Given the description of an element on the screen output the (x, y) to click on. 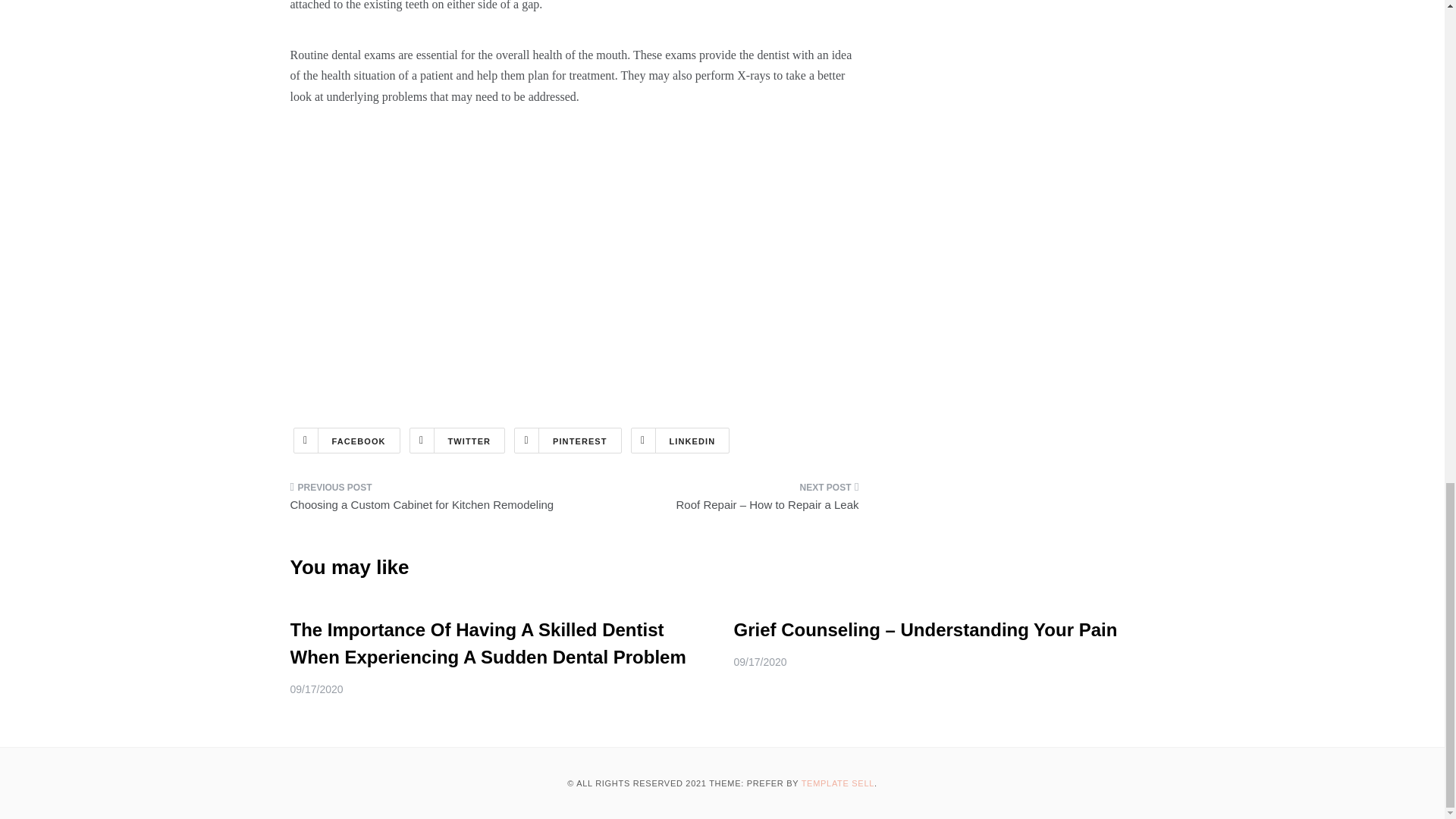
TWITTER (457, 440)
Choosing a Custom Cabinet for Kitchen Remodeling (425, 500)
PINTEREST (567, 440)
FACEBOOK (345, 440)
TEMPLATE SELL (838, 782)
LINKEDIN (680, 440)
